Given the description of an element on the screen output the (x, y) to click on. 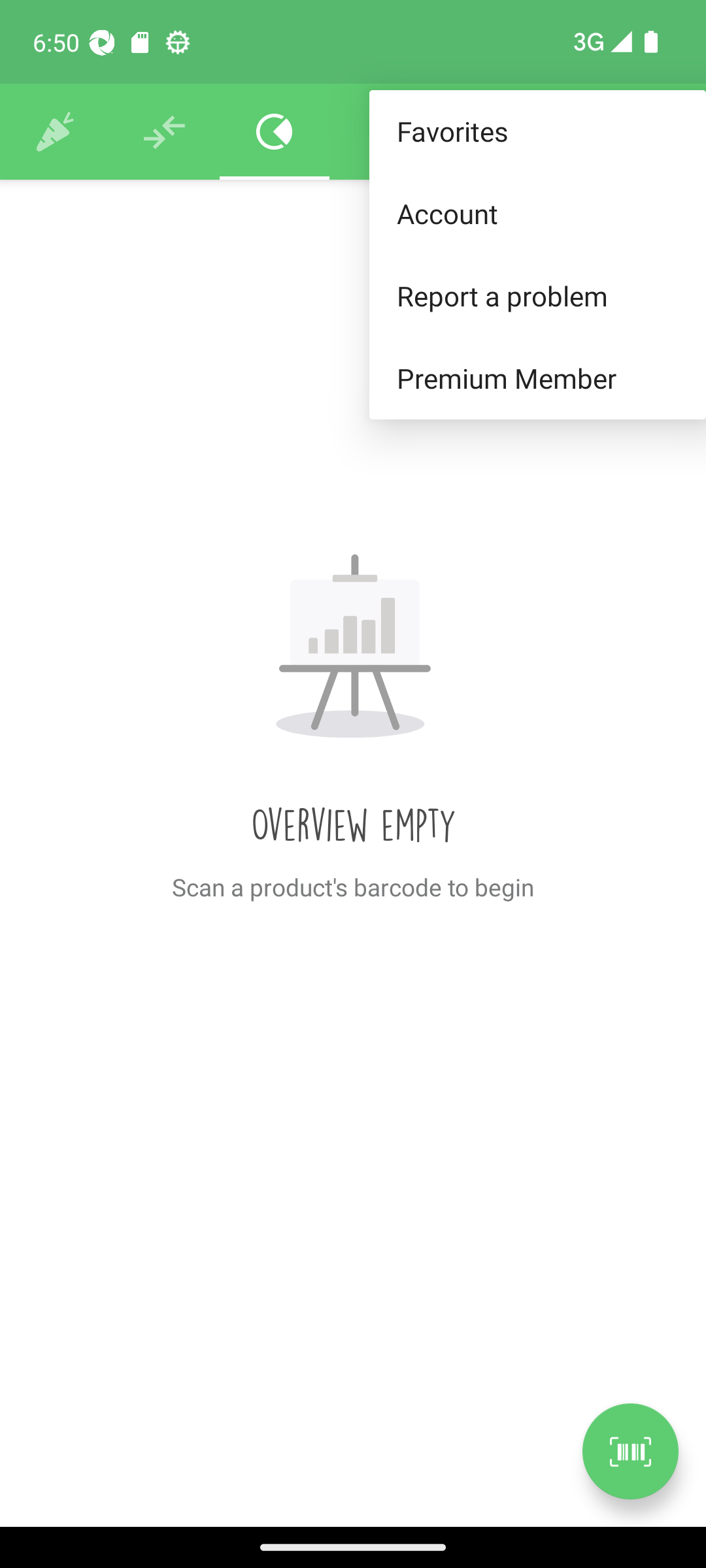
Favorites (537, 131)
Account (537, 213)
Report a problem (537, 295)
Premium Member (537, 378)
